Given the description of an element on the screen output the (x, y) to click on. 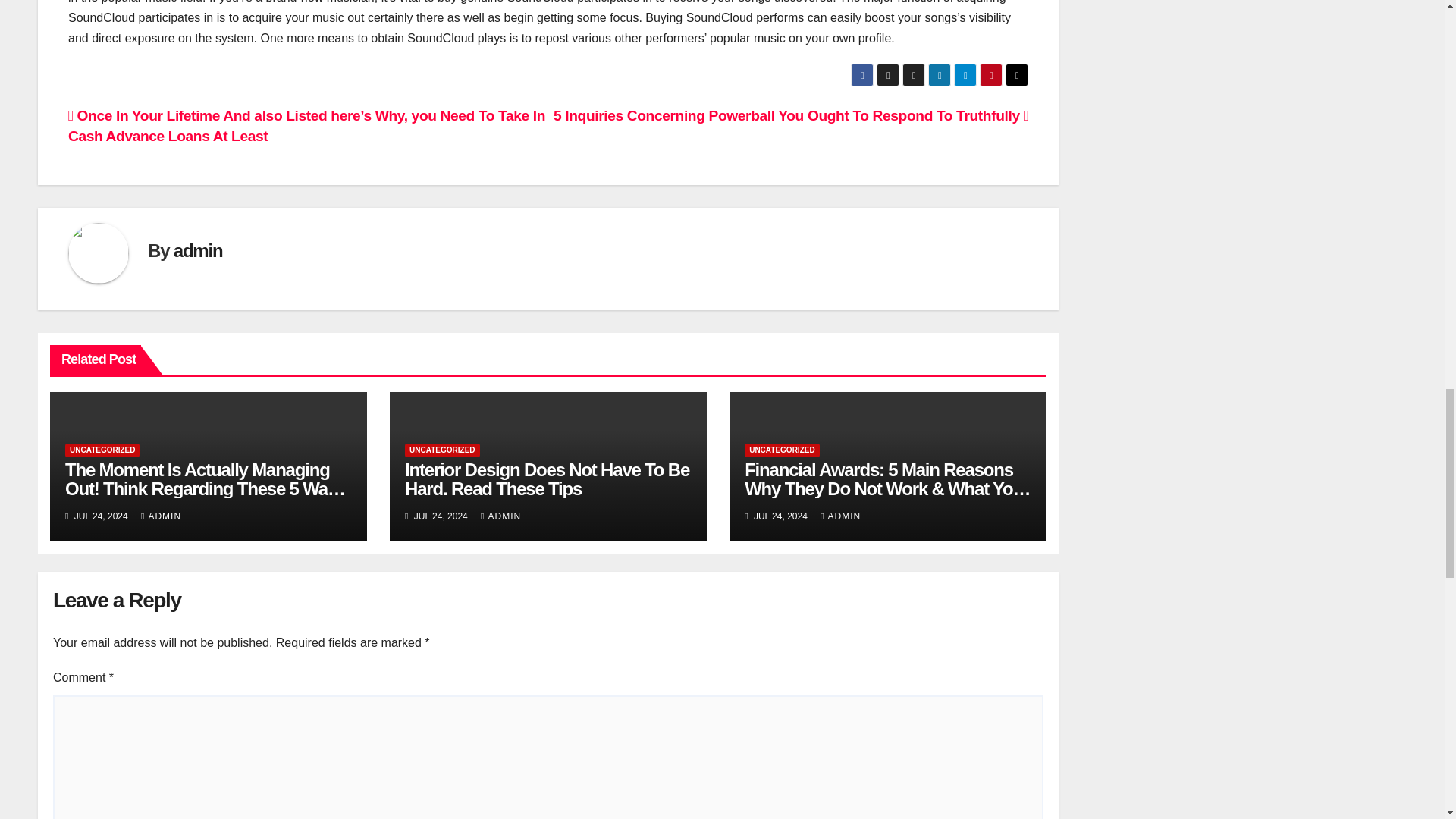
UNCATEGORIZED (781, 450)
Interior Design Does Not Have To Be Hard. Read These Tips (546, 478)
ADMIN (160, 516)
UNCATEGORIZED (441, 450)
ADMIN (840, 516)
ADMIN (500, 516)
admin (197, 250)
UNCATEGORIZED (102, 450)
